Given the description of an element on the screen output the (x, y) to click on. 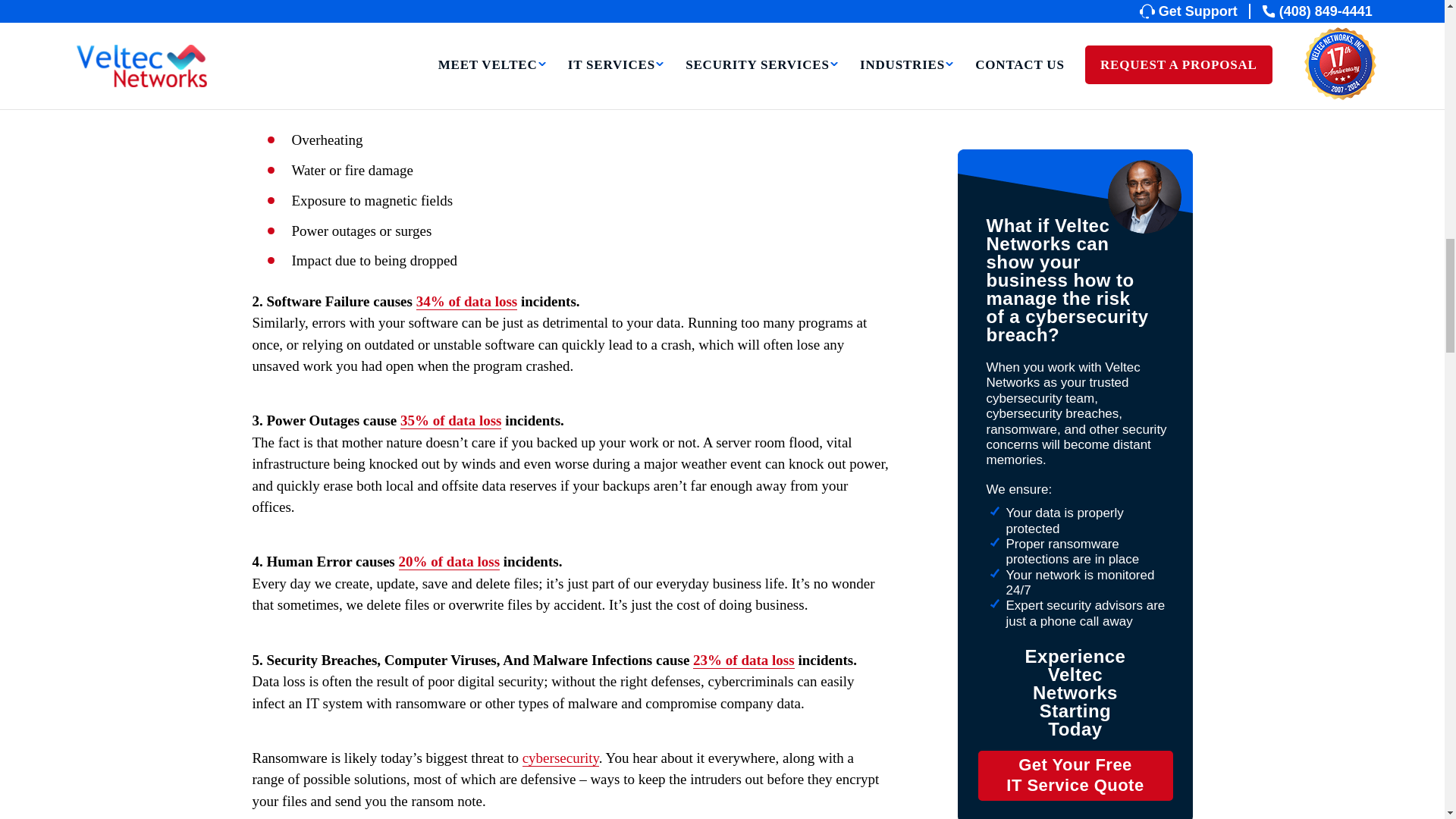
cybersecurity (560, 758)
